Given the description of an element on the screen output the (x, y) to click on. 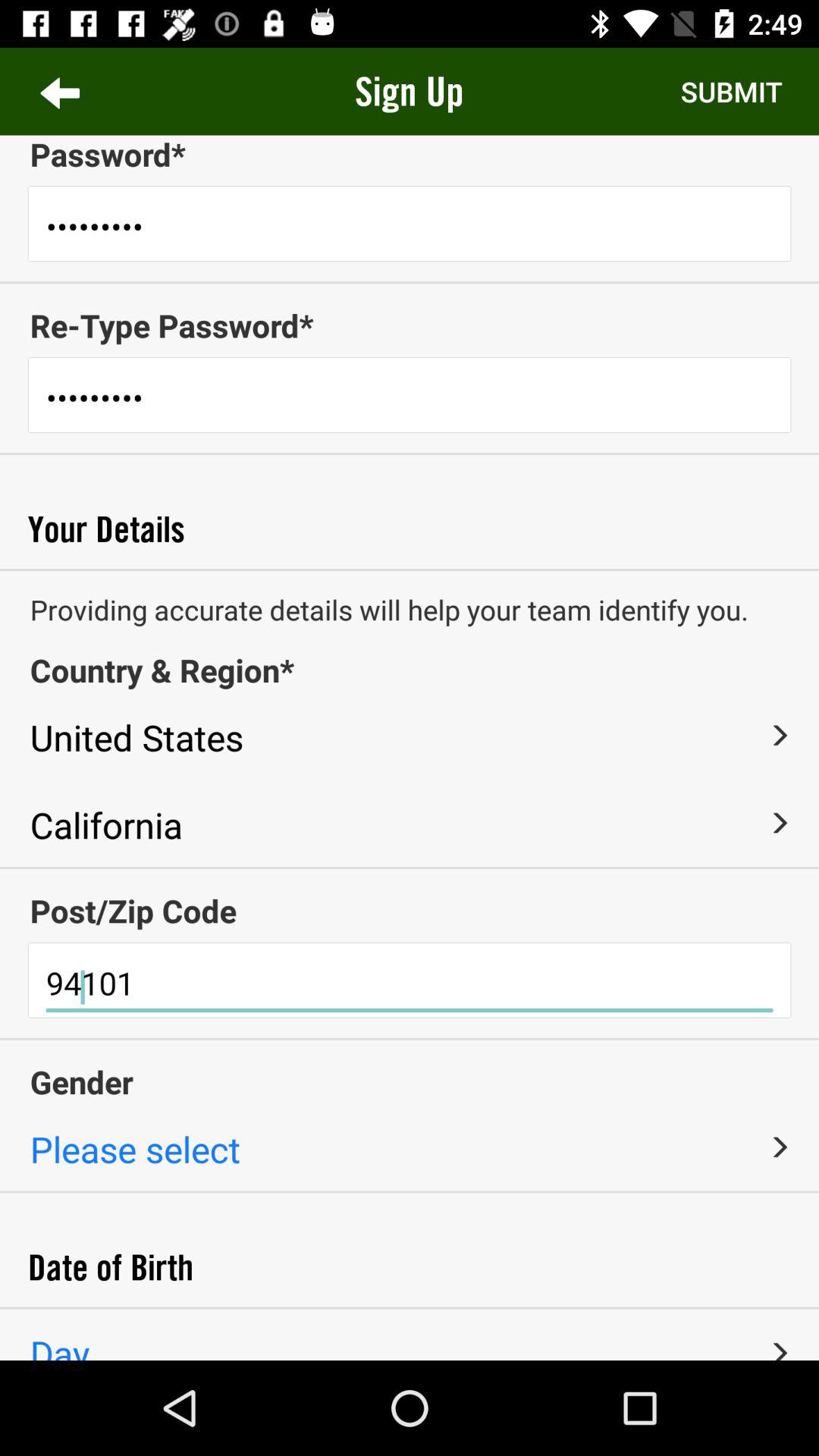
select re-type password* item (409, 324)
